Given the description of an element on the screen output the (x, y) to click on. 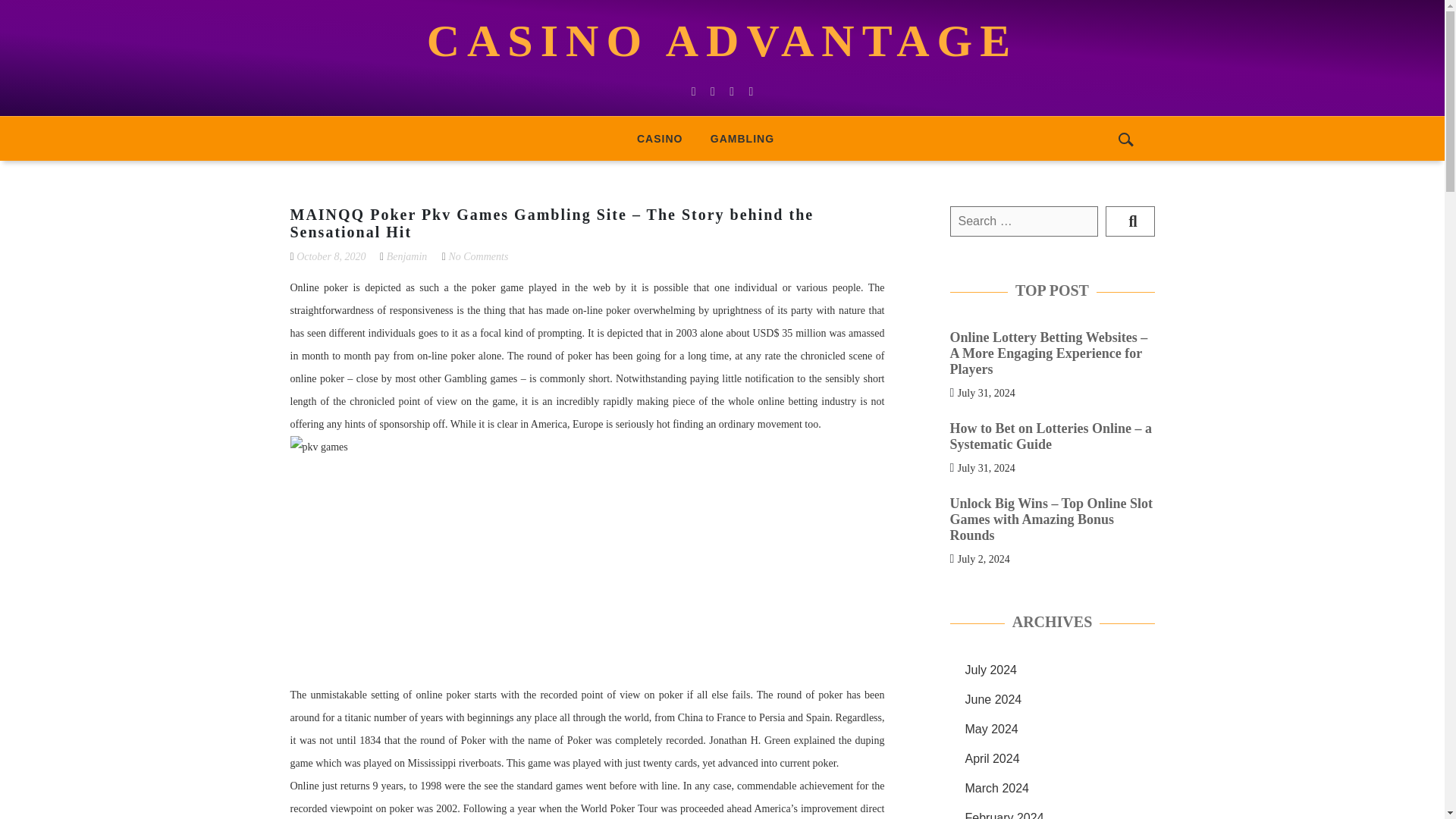
Gambling (742, 138)
Benjamin (407, 256)
Search (1129, 221)
GAMBLING (742, 138)
CASINO (659, 138)
No Comments (478, 256)
March 2024 (996, 788)
Search (1129, 221)
CASINO ADVANTAGE (721, 40)
July 2, 2024 (984, 558)
